Given the description of an element on the screen output the (x, y) to click on. 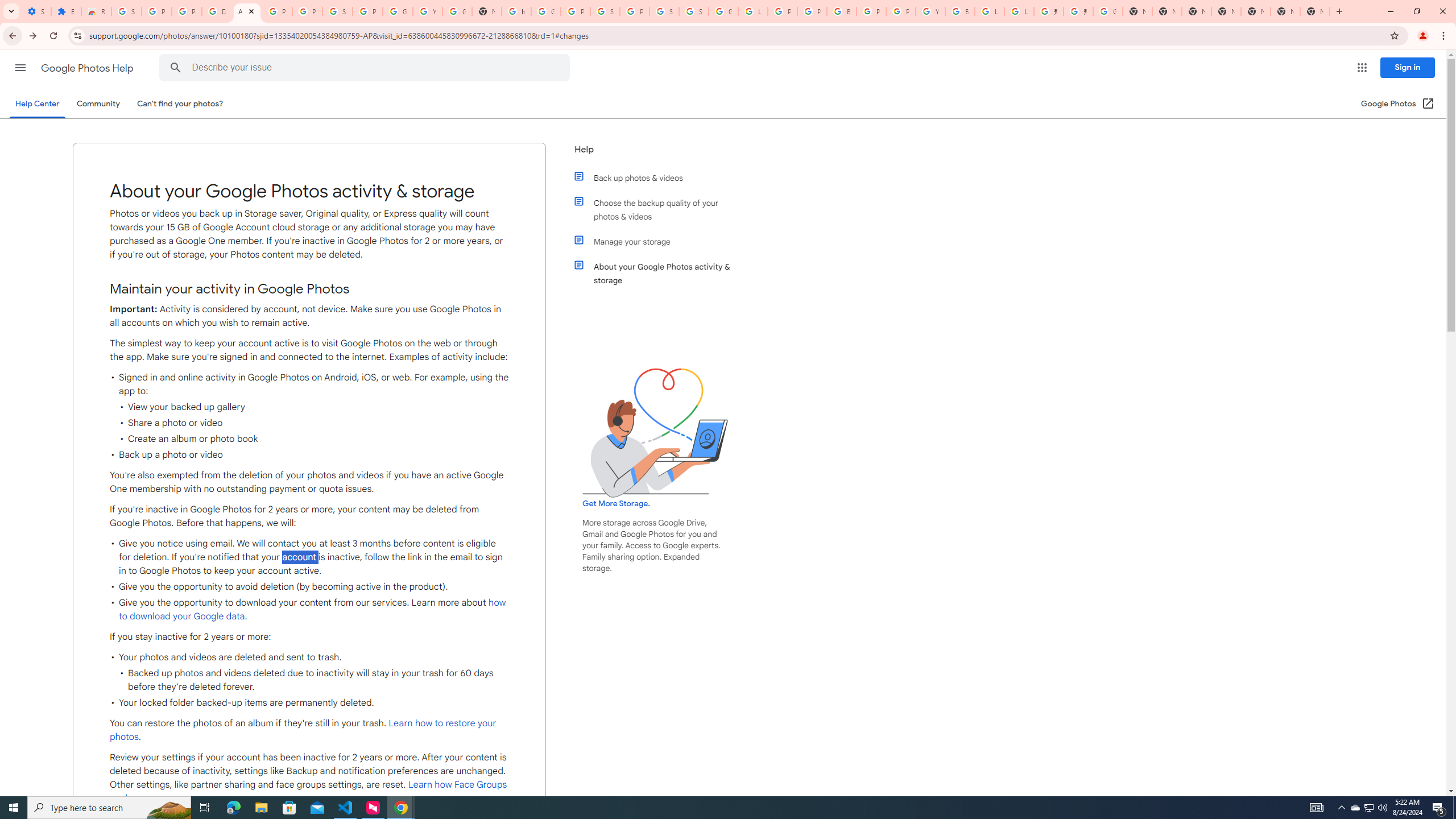
Delete photos & videos - Computer - Google Photos Help (216, 11)
